Given the description of an element on the screen output the (x, y) to click on. 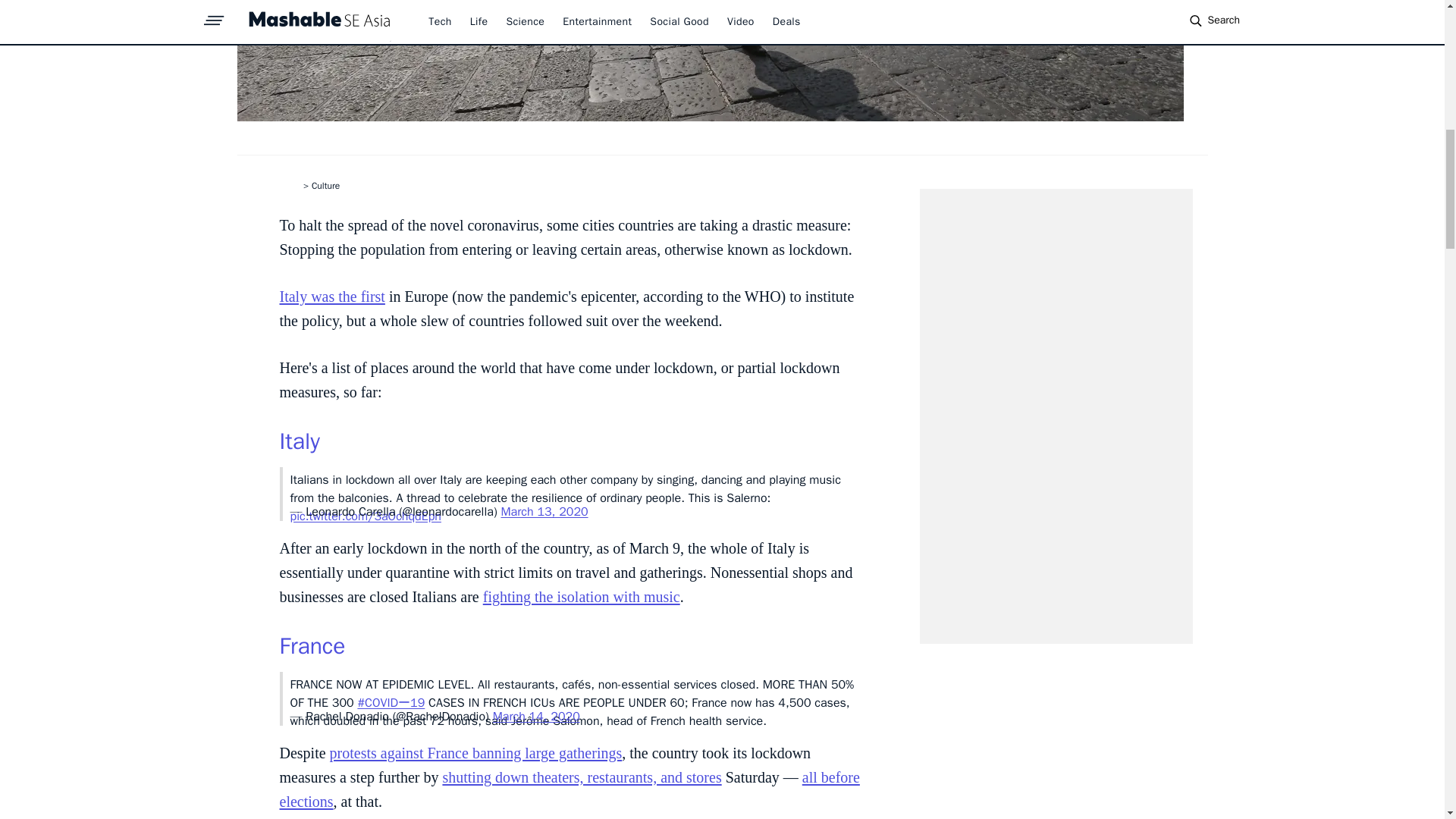
shutting down theaters, restaurants, and stores (581, 777)
France (312, 645)
fighting the isolation with music (581, 596)
Italy was the first (331, 296)
protests against France banning large gatherings (476, 752)
March 13, 2020 (544, 511)
March 14, 2020 (536, 716)
Italy (298, 440)
all before elections (569, 789)
